Given the description of an element on the screen output the (x, y) to click on. 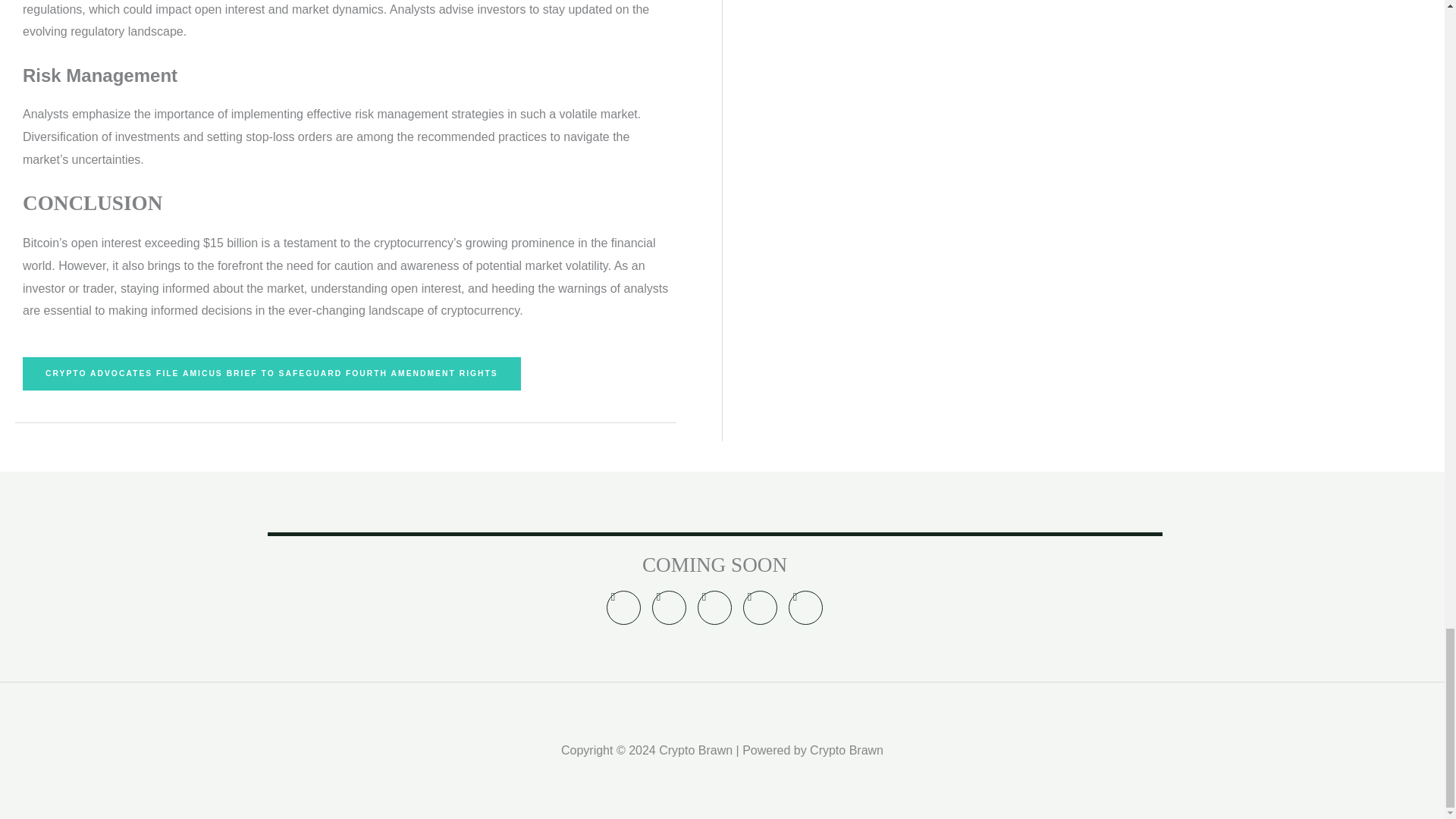
Youtube (805, 607)
Instagram (714, 607)
Facebook-f (759, 607)
Twitter (623, 607)
Linkedin-in (668, 607)
